Given the description of an element on the screen output the (x, y) to click on. 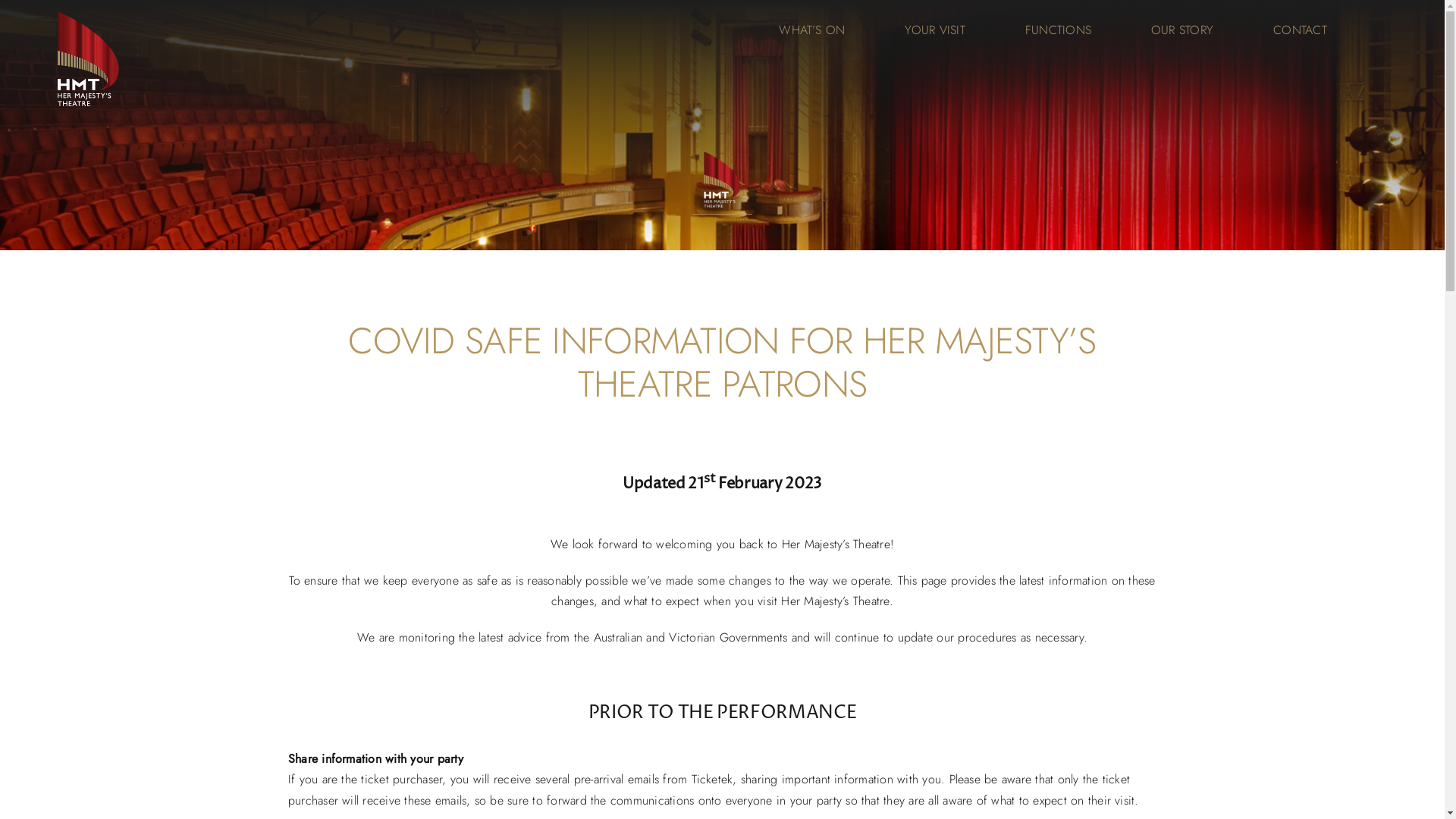
YOUR VISIT Element type: text (934, 30)
FUNCTIONS Element type: text (1058, 30)
hmt-her-majestys-theatre-logo-1 Element type: hover (721, 182)
CONTACT Element type: text (1300, 30)
OUR STORY Element type: text (1182, 30)
